Given the description of an element on the screen output the (x, y) to click on. 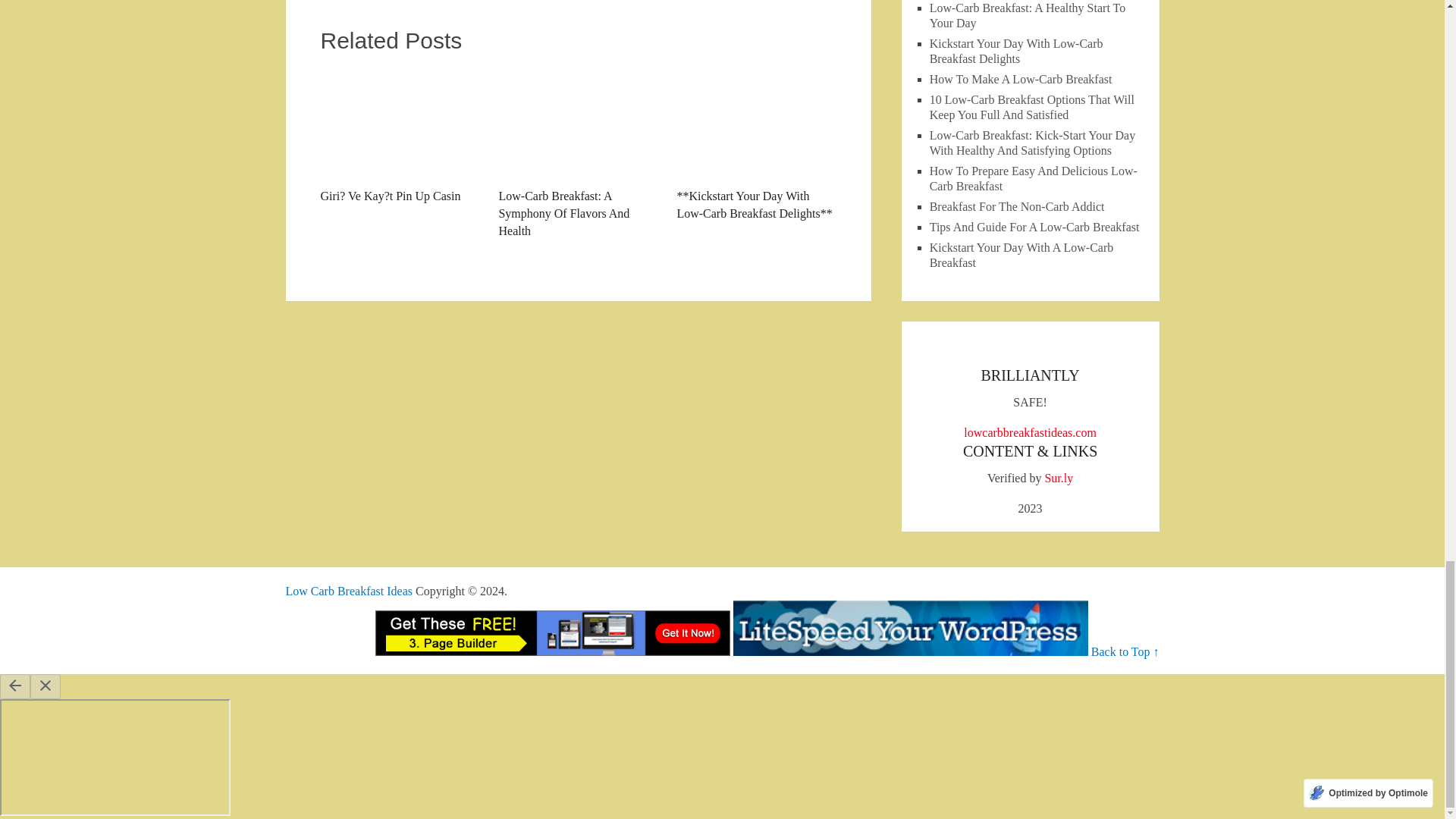
Low-Carb Breakfast: A Symphony Of Flavors And Health (577, 122)
Low-Carb Breakfast: A Symphony Of Flavors And Health (577, 152)
Kickstart Your Day With A Low-Carb Breakfast (1021, 254)
How To Make A Low-Carb Breakfast (1021, 78)
Tips And Guide For A Low-Carb Breakfast (1035, 226)
How To Prepare Easy And Delicious Low-Carb Breakfast (1033, 178)
Low Carb Breakfast Ideas (348, 590)
Low-Carb Breakfast: A Symphony Of Flavors And Health (577, 152)
Sur.ly (1058, 477)
Kickstart Your Day With Low-Carb Breakfast Delights (1016, 50)
Low-Carb Breakfast: A Healthy Start To Your Day (1027, 15)
Breakfast For The Non-Carb Addict (1017, 205)
Giri? Ve Kay?t Pin Up Casin (399, 135)
